Given the description of an element on the screen output the (x, y) to click on. 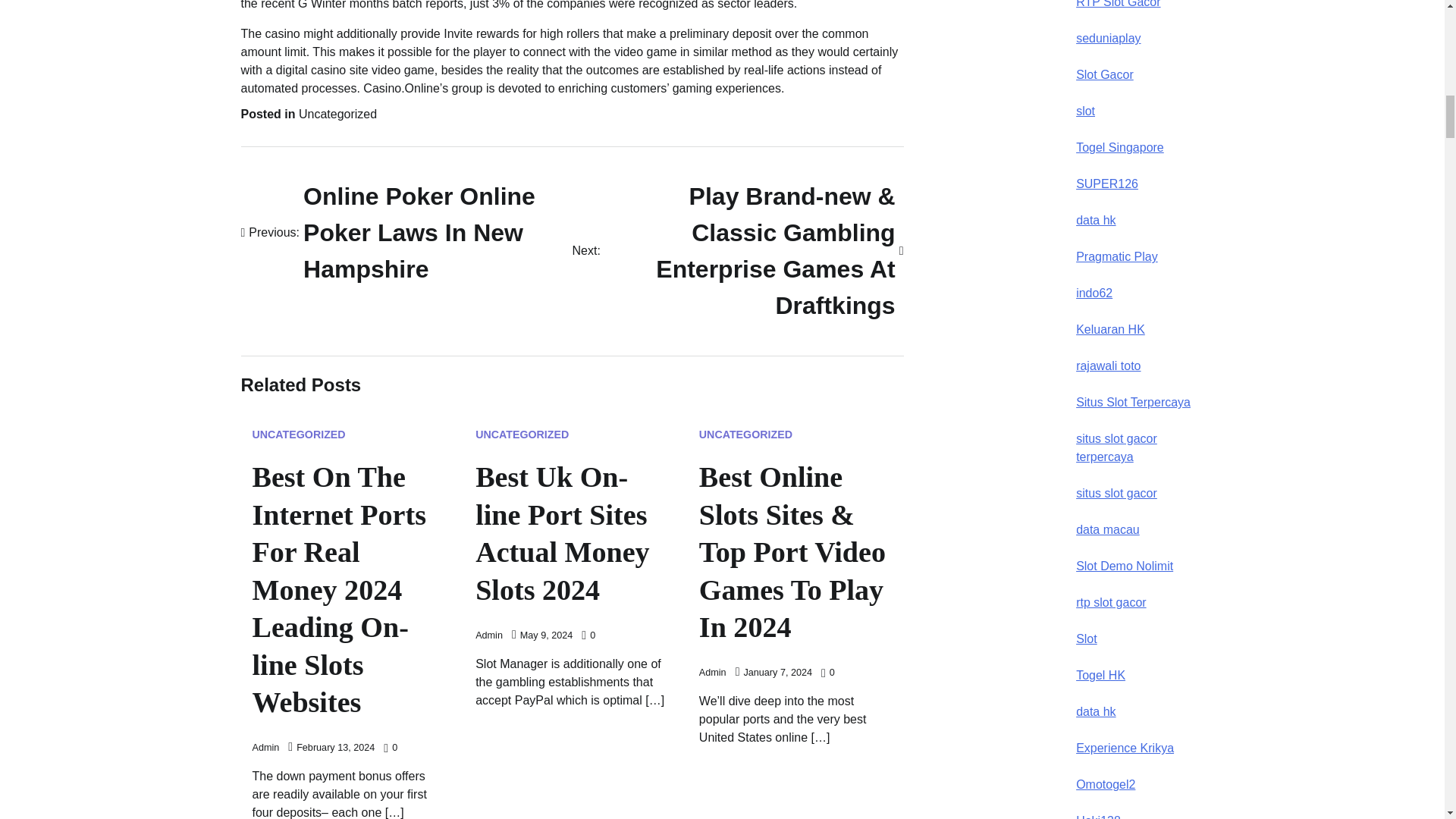
UNCATEGORIZED (745, 434)
Admin (406, 232)
UNCATEGORIZED (489, 634)
Admin (522, 434)
Uncategorized (265, 747)
UNCATEGORIZED (337, 113)
Admin (298, 434)
Best Uk On-line Port Sites Actual Money Slots 2024 (712, 672)
